Given the description of an element on the screen output the (x, y) to click on. 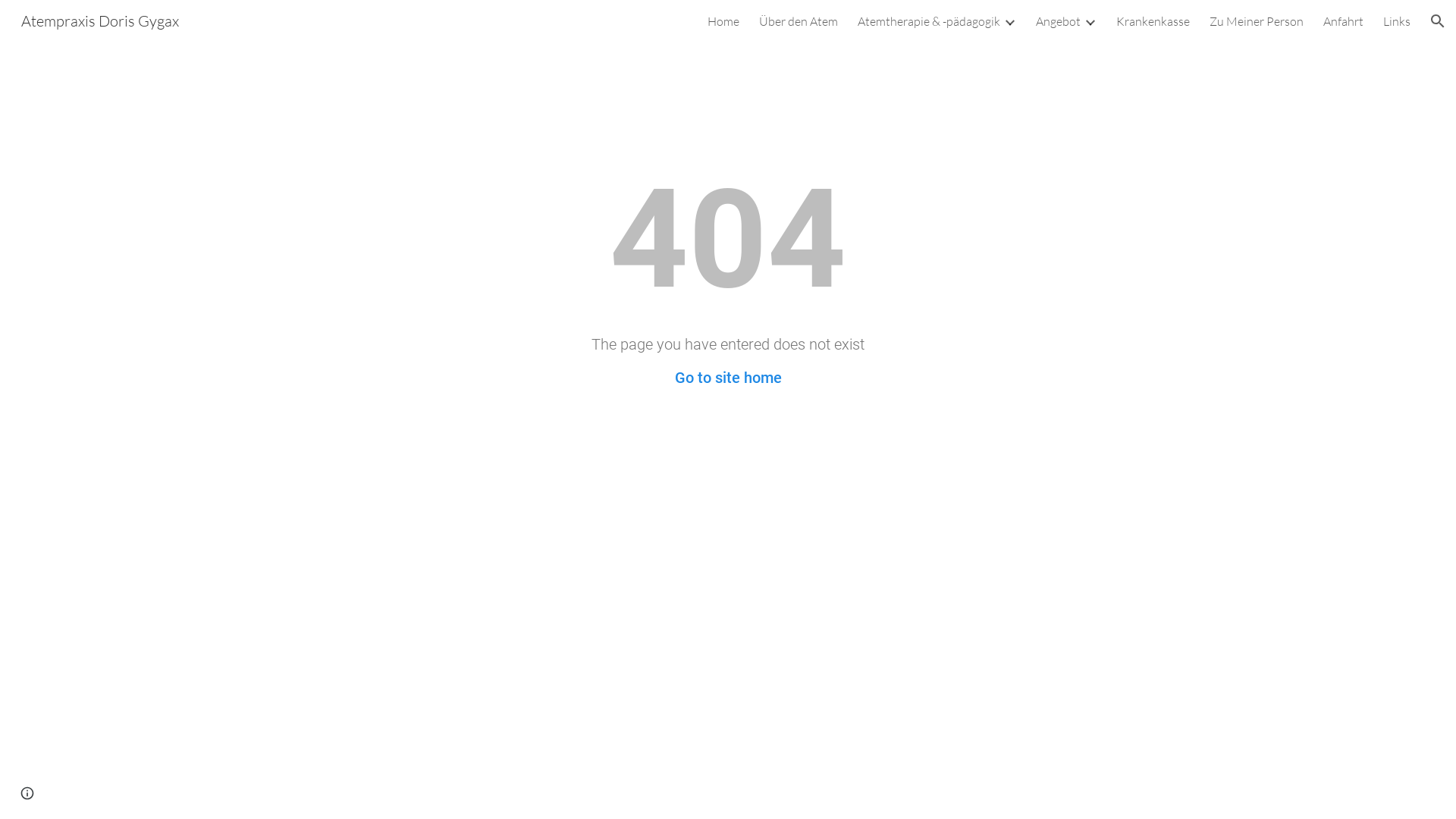
Go to site home Element type: text (727, 377)
Expand/Collapse Element type: hover (1089, 20)
Links Element type: text (1396, 20)
Krankenkasse Element type: text (1152, 20)
Anfahrt Element type: text (1343, 20)
Atempraxis Doris Gygax Element type: text (100, 18)
Expand/Collapse Element type: hover (1009, 20)
Angebot Element type: text (1057, 20)
Home Element type: text (723, 20)
Zu Meiner Person Element type: text (1256, 20)
